Given the description of an element on the screen output the (x, y) to click on. 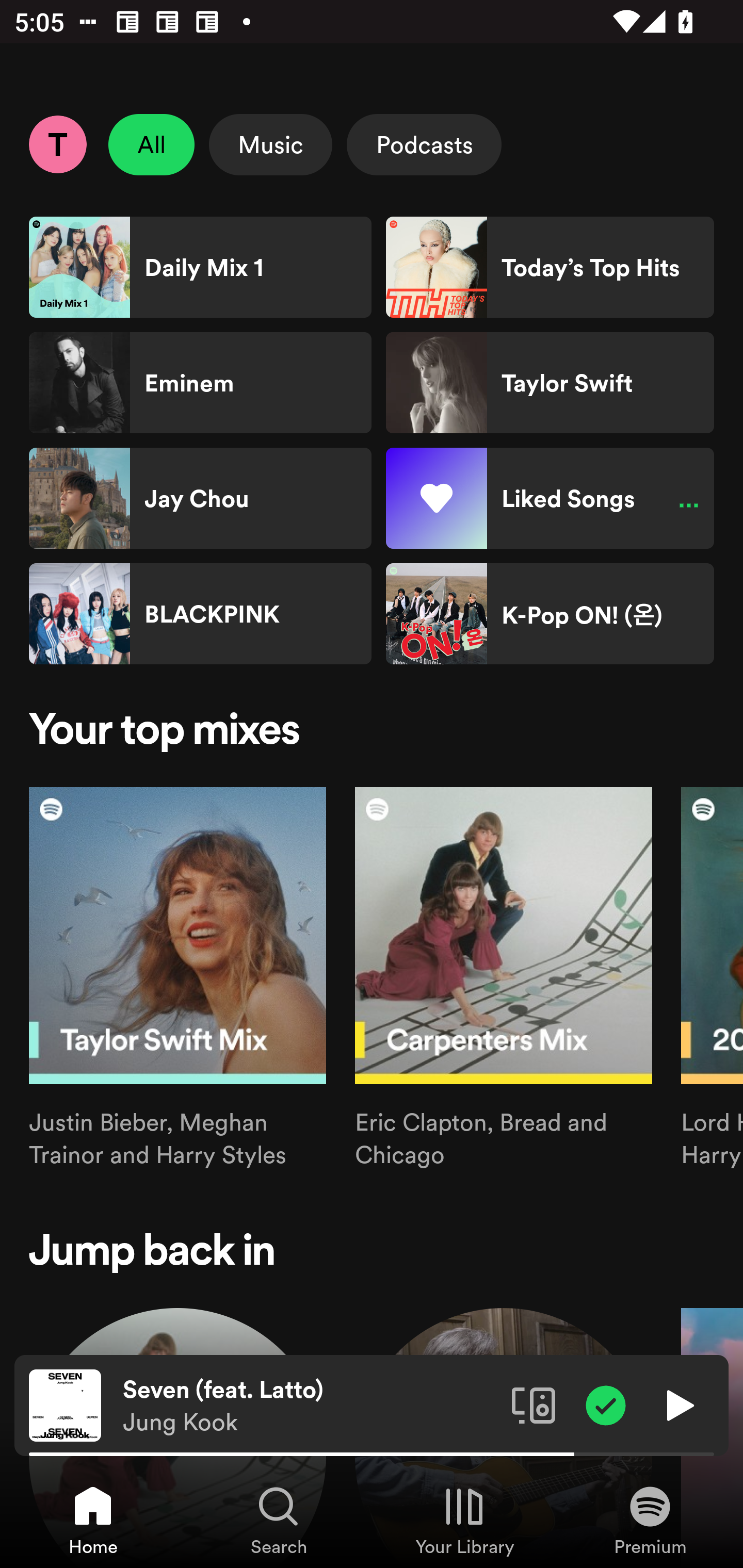
Profile (57, 144)
All Unselect All (151, 144)
Music Select Music (270, 144)
Podcasts Select Podcasts (423, 144)
Daily Mix 1 Shortcut Daily Mix 1 (199, 267)
Today’s Top Hits Shortcut Today’s Top Hits (549, 267)
Eminem Shortcut Eminem (199, 382)
Taylor Swift Shortcut Taylor Swift (549, 382)
Jay Chou Shortcut Jay Chou (199, 498)
Liked Songs Shortcut Liked Songs Paused (549, 498)
BLACKPINK Shortcut BLACKPINK (199, 613)
K-Pop ON! (온) Shortcut K-Pop ON! (온) (549, 613)
Seven (feat. Latto) Jung Kook (309, 1405)
The cover art of the currently playing track (64, 1404)
Connect to a device. Opens the devices menu (533, 1404)
Item added (605, 1404)
Play (677, 1404)
Home, Tab 1 of 4 Home Home (92, 1519)
Search, Tab 2 of 4 Search Search (278, 1519)
Your Library, Tab 3 of 4 Your Library Your Library (464, 1519)
Premium, Tab 4 of 4 Premium Premium (650, 1519)
